Given the description of an element on the screen output the (x, y) to click on. 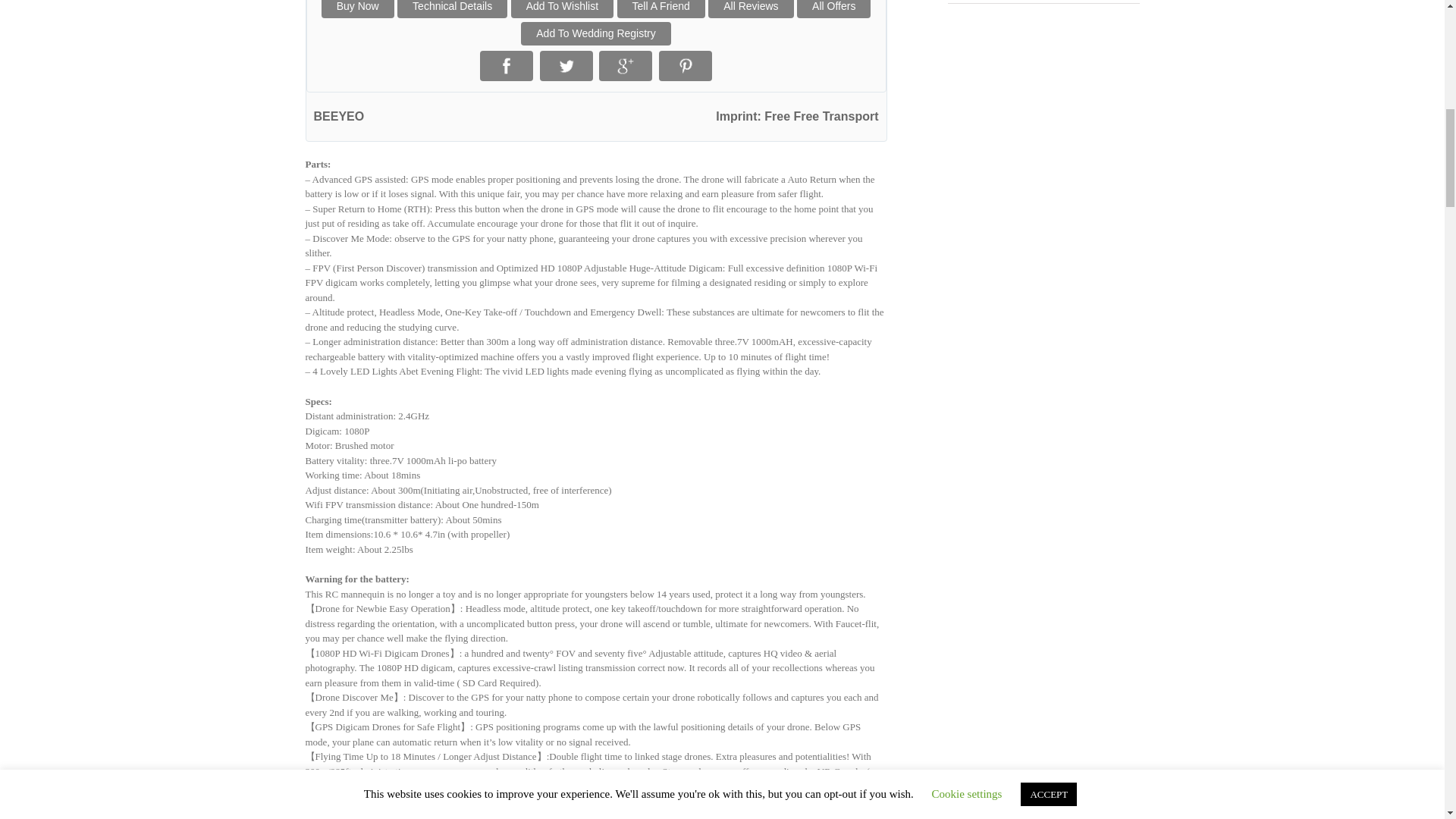
Tell A Friend (660, 9)
Buy Now (357, 9)
Add To Wedding Registry (595, 33)
All Reviews (750, 9)
Add To Wishlist (561, 9)
All Offers (833, 9)
Technical Details (451, 9)
